Given the description of an element on the screen output the (x, y) to click on. 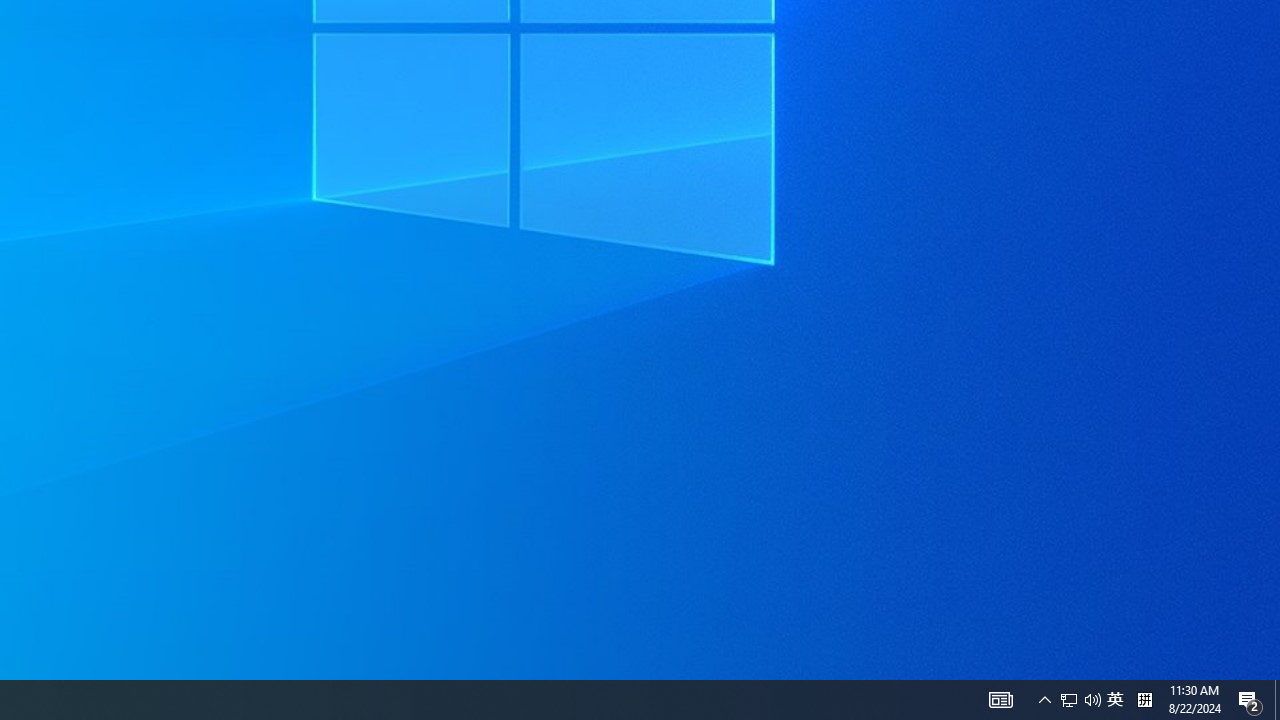
Notification Chevron (1069, 699)
AutomationID: 4105 (1115, 699)
Action Center, 2 new notifications (1044, 699)
Show desktop (1000, 699)
User Promoted Notification Area (1250, 699)
Tray Input Indicator - Chinese (Simplified, China) (1277, 699)
Q2790: 100% (1080, 699)
